Given the description of an element on the screen output the (x, y) to click on. 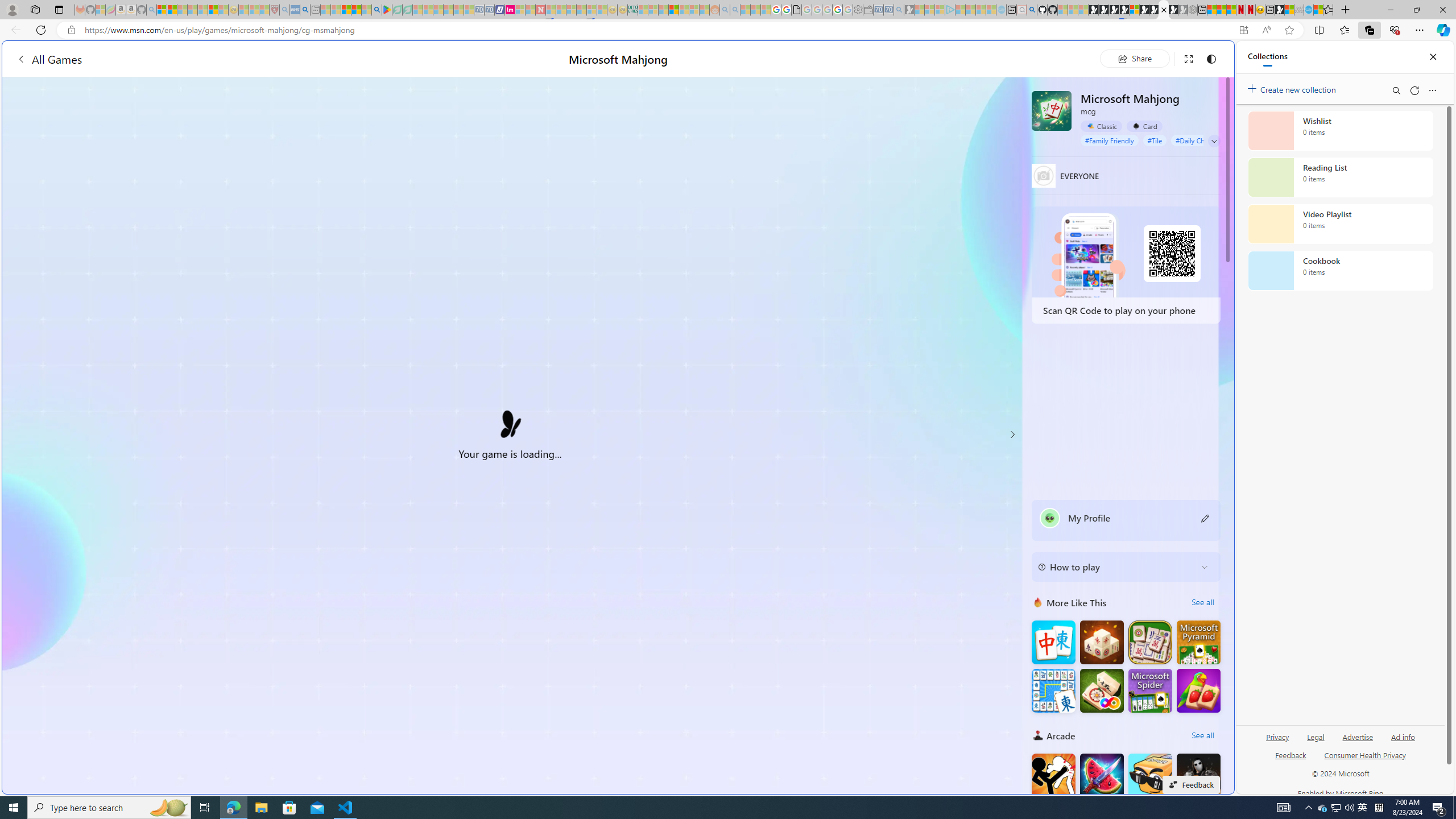
Full screen (1187, 58)
Wishlist collection, 0 items (1339, 130)
Close split screen (1208, 57)
All Games (49, 58)
#Tile (1154, 140)
Create new collection (1293, 87)
utah sues federal government - Search (922, 389)
Class: button edit-icon (1205, 517)
